Given the description of an element on the screen output the (x, y) to click on. 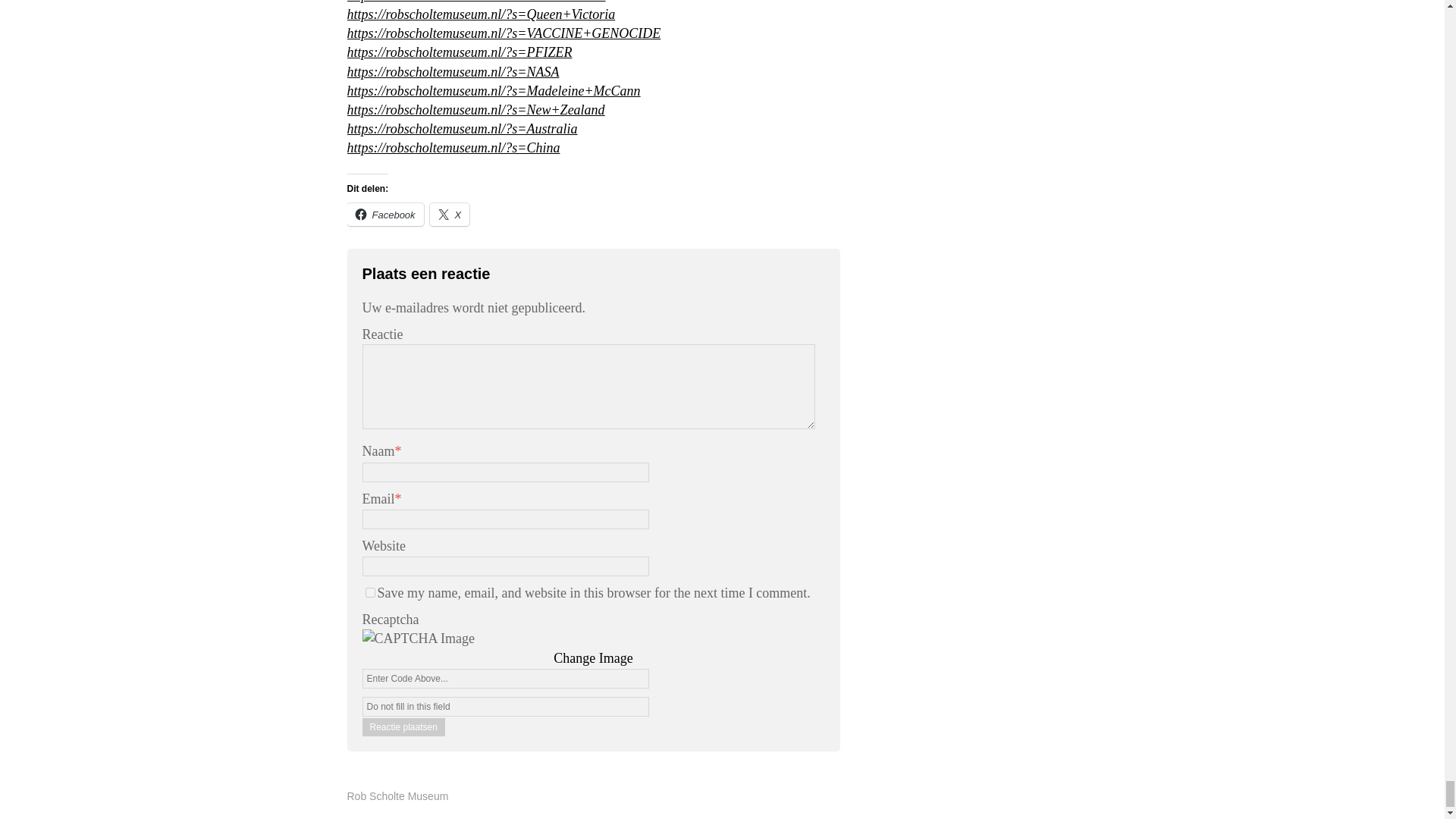
yes (370, 592)
Klik om te delen op Facebook (385, 214)
Reactie plaatsen (403, 727)
Klik om te delen op X (449, 214)
